Given the description of an element on the screen output the (x, y) to click on. 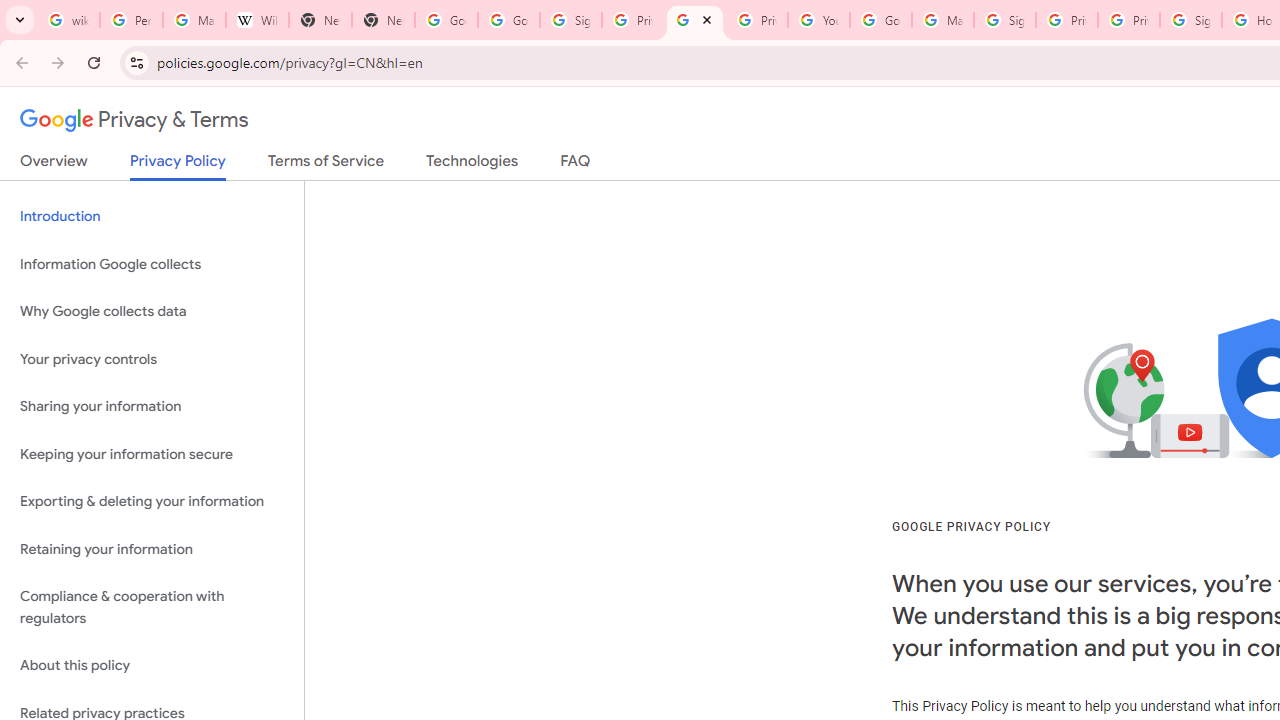
Manage your Location History - Google Search Help (194, 20)
